Given the description of an element on the screen output the (x, y) to click on. 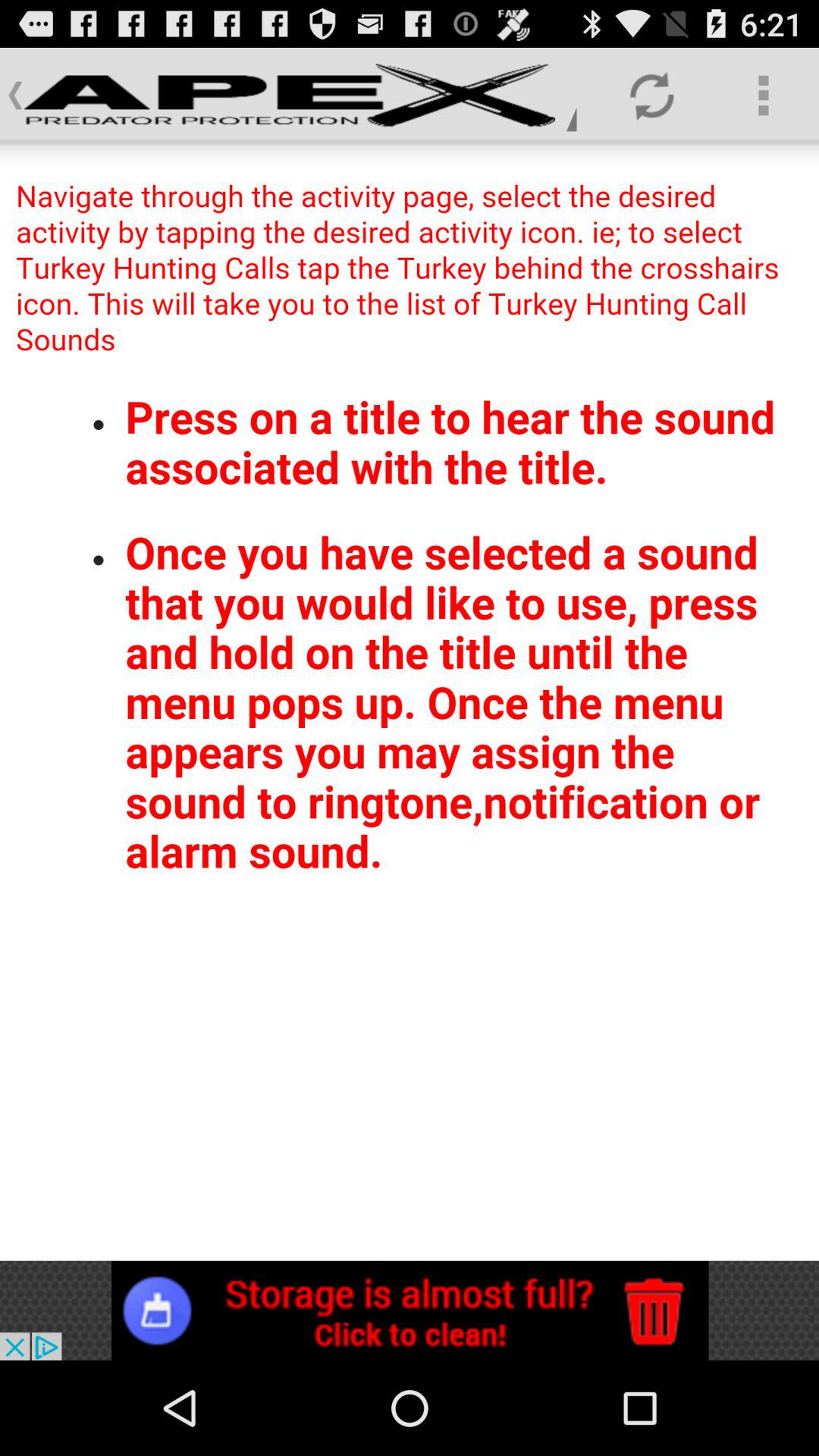
click main page (409, 701)
